Given the description of an element on the screen output the (x, y) to click on. 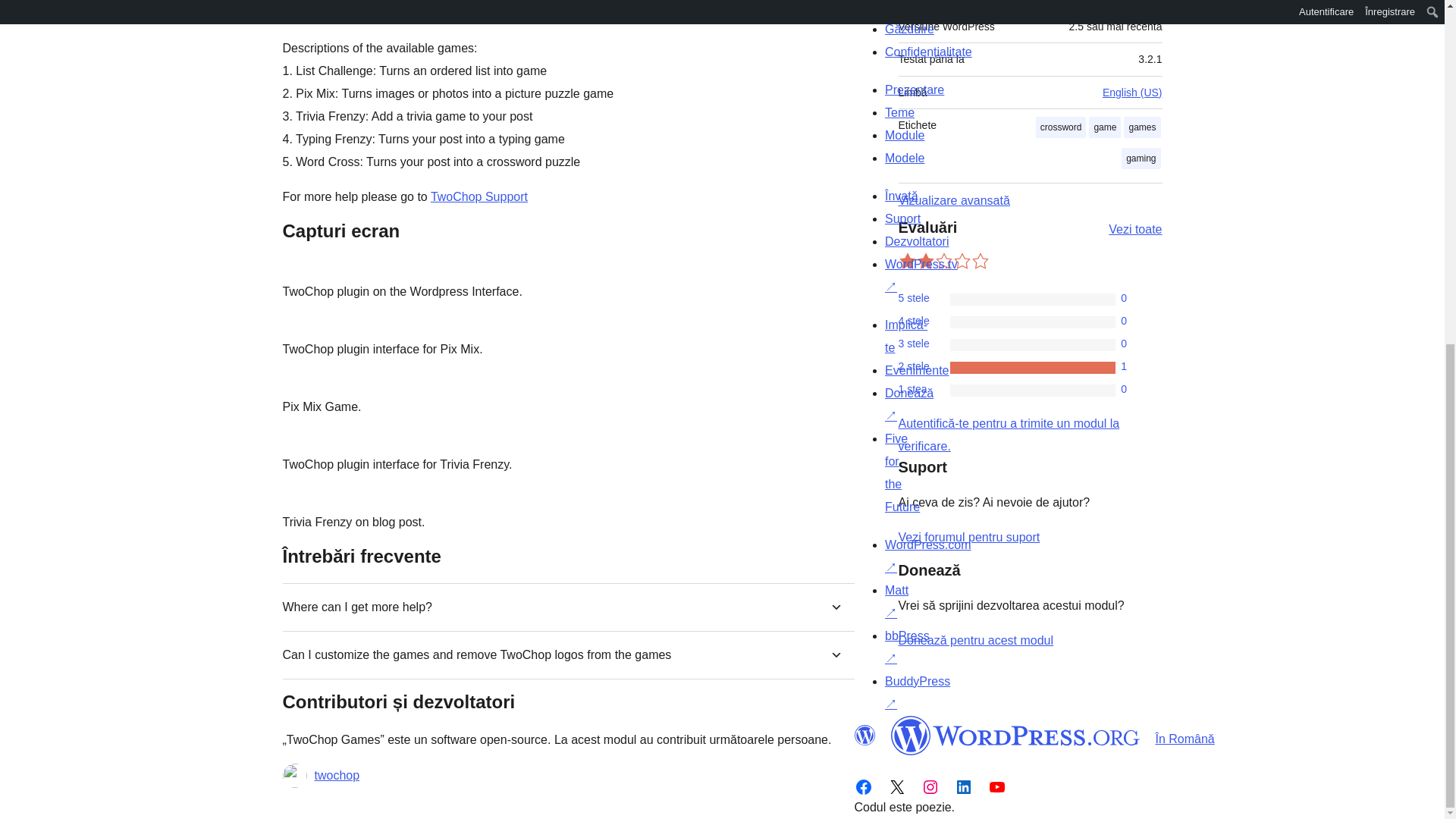
WordPress.org (864, 735)
WordPress.org (1014, 735)
TwoChop Support (478, 196)
